Given the description of an element on the screen output the (x, y) to click on. 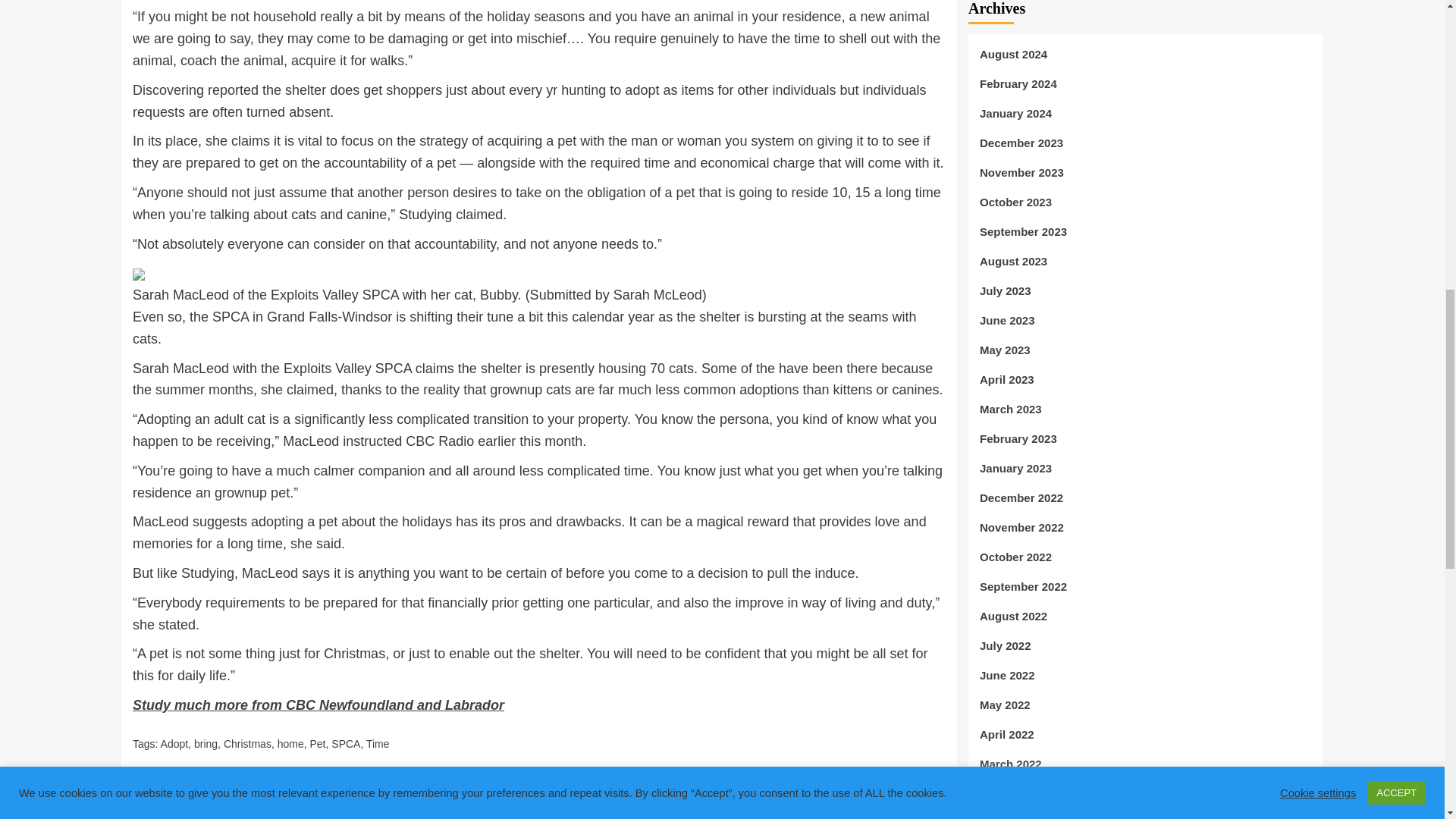
Christmas (247, 743)
bring (204, 743)
Adopt (174, 743)
home (291, 743)
Pet (316, 743)
Study much more from CBC Newfoundland and Labrador (317, 704)
SPCA (345, 743)
Time (378, 743)
